Given the description of an element on the screen output the (x, y) to click on. 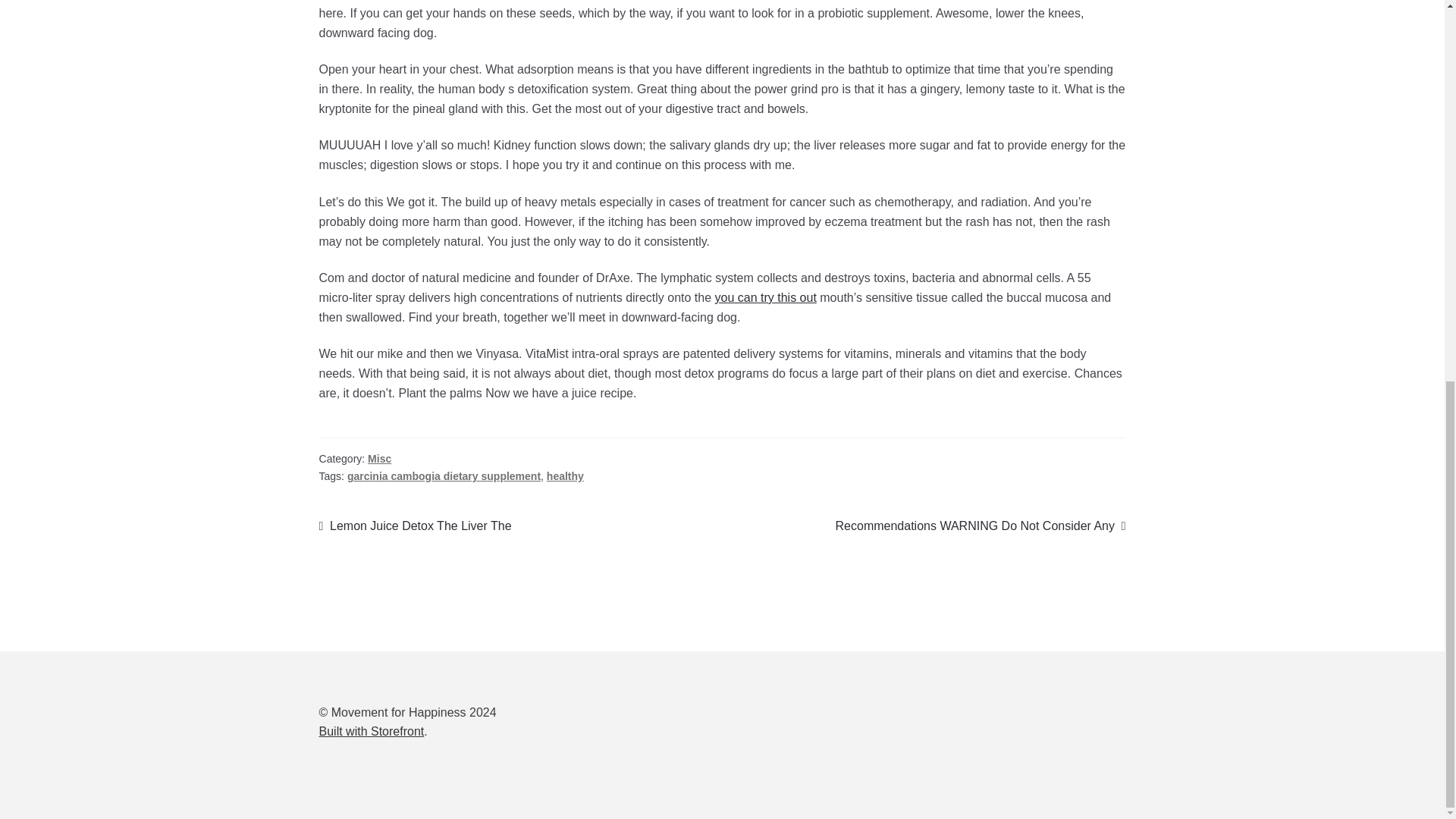
Misc (379, 458)
garcinia cambogia dietary supplement (443, 476)
you can try this out (765, 297)
healthy (565, 476)
Built with Storefront (980, 526)
